Given the description of an element on the screen output the (x, y) to click on. 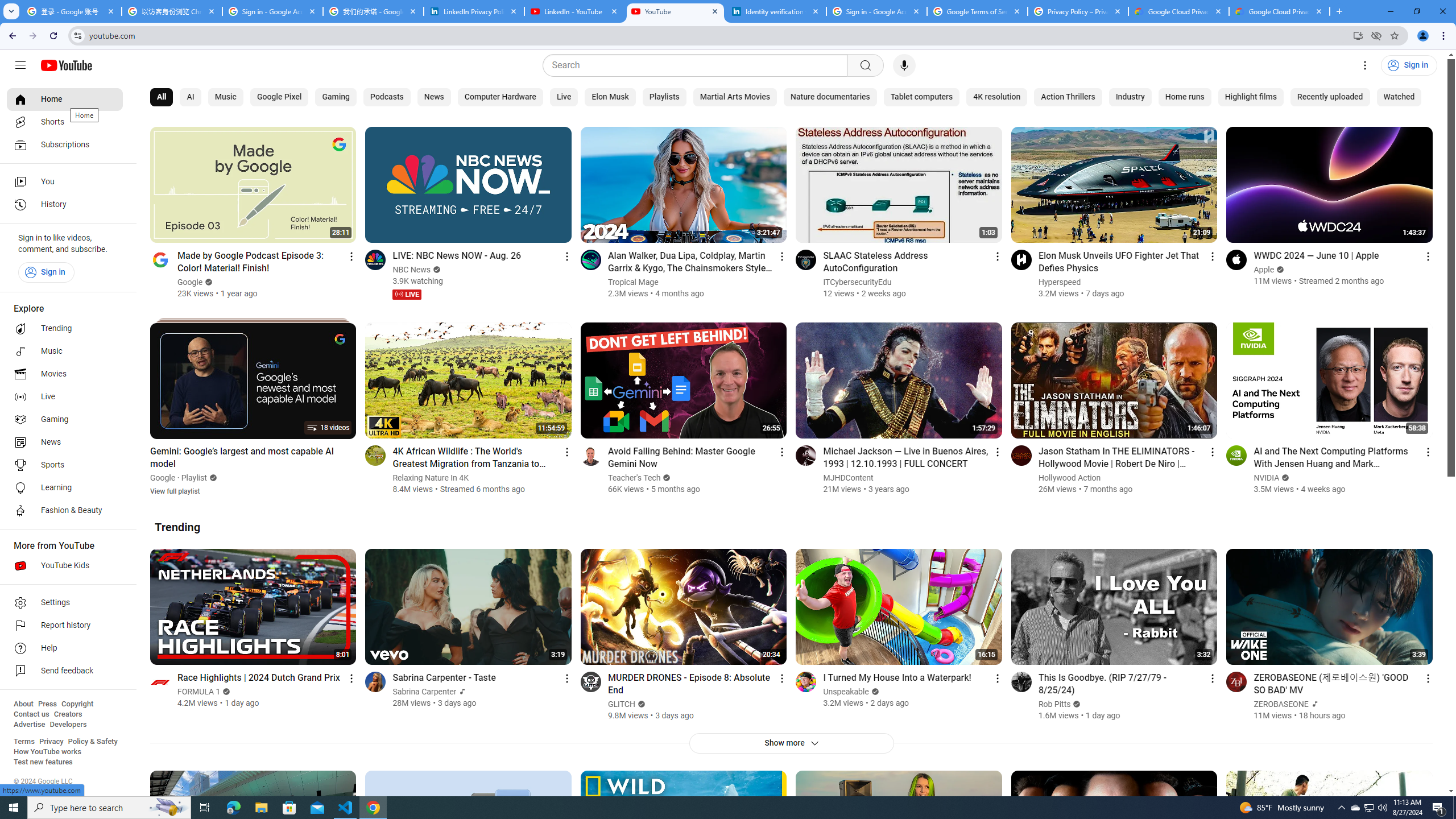
Privacy (51, 741)
News (64, 441)
AI (189, 97)
Movies (64, 373)
Sports (64, 464)
YouTube Home (66, 65)
Subscriptions (64, 144)
Playlists (663, 97)
